Given the description of an element on the screen output the (x, y) to click on. 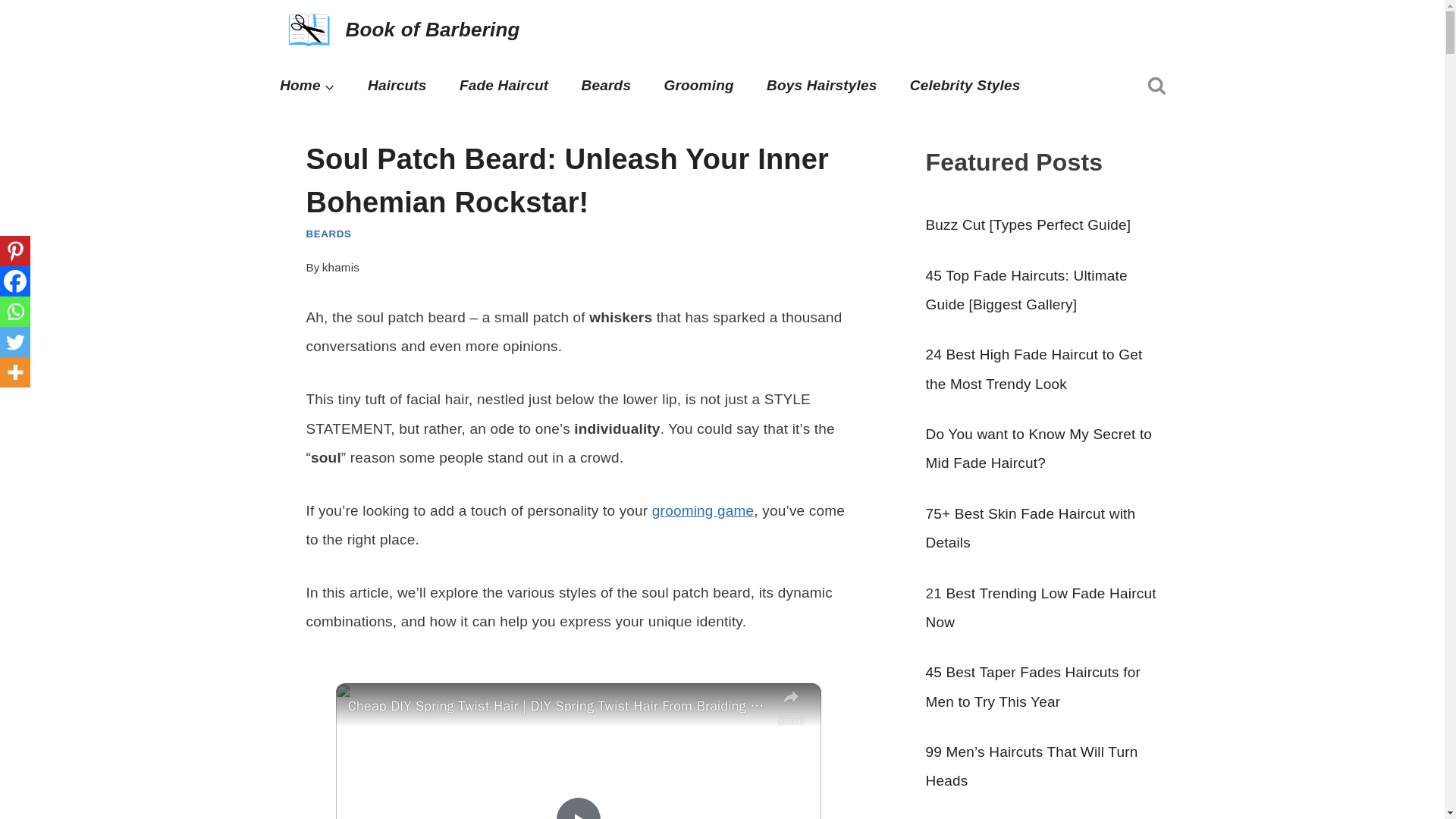
BEARDS (328, 233)
Haircuts (396, 85)
Celebrity Styles (964, 85)
Grooming (699, 85)
Book of Barbering (400, 30)
Home (307, 85)
Play Video (578, 807)
khamis (340, 267)
Play Video (578, 807)
Boys Hairstyles (821, 85)
Beards (605, 85)
grooming game (703, 510)
Fade Haircut (503, 85)
